Given the description of an element on the screen output the (x, y) to click on. 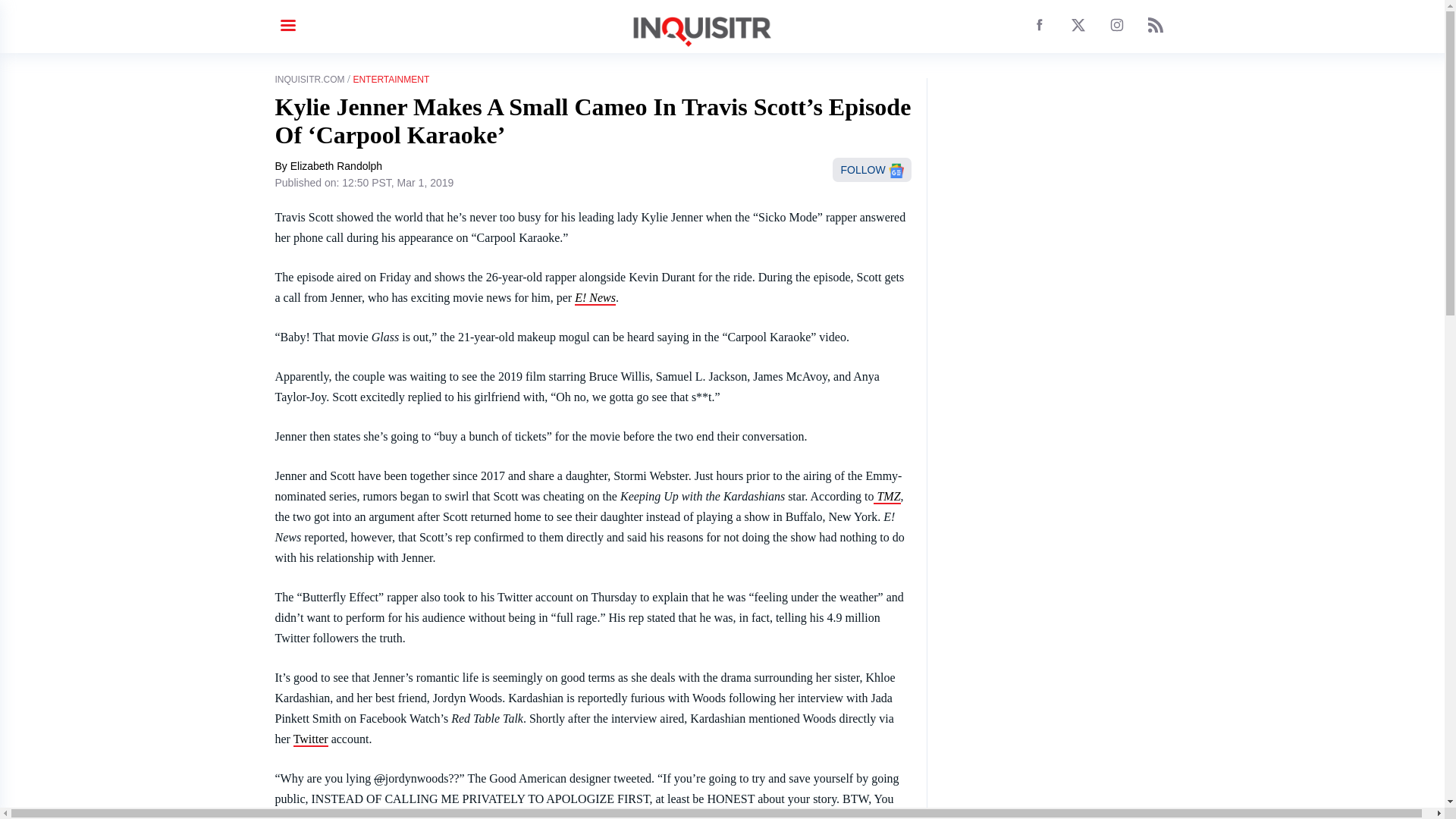
ENTERTAINMENT (390, 79)
INQUISITR.COM (309, 79)
